Given the description of an element on the screen output the (x, y) to click on. 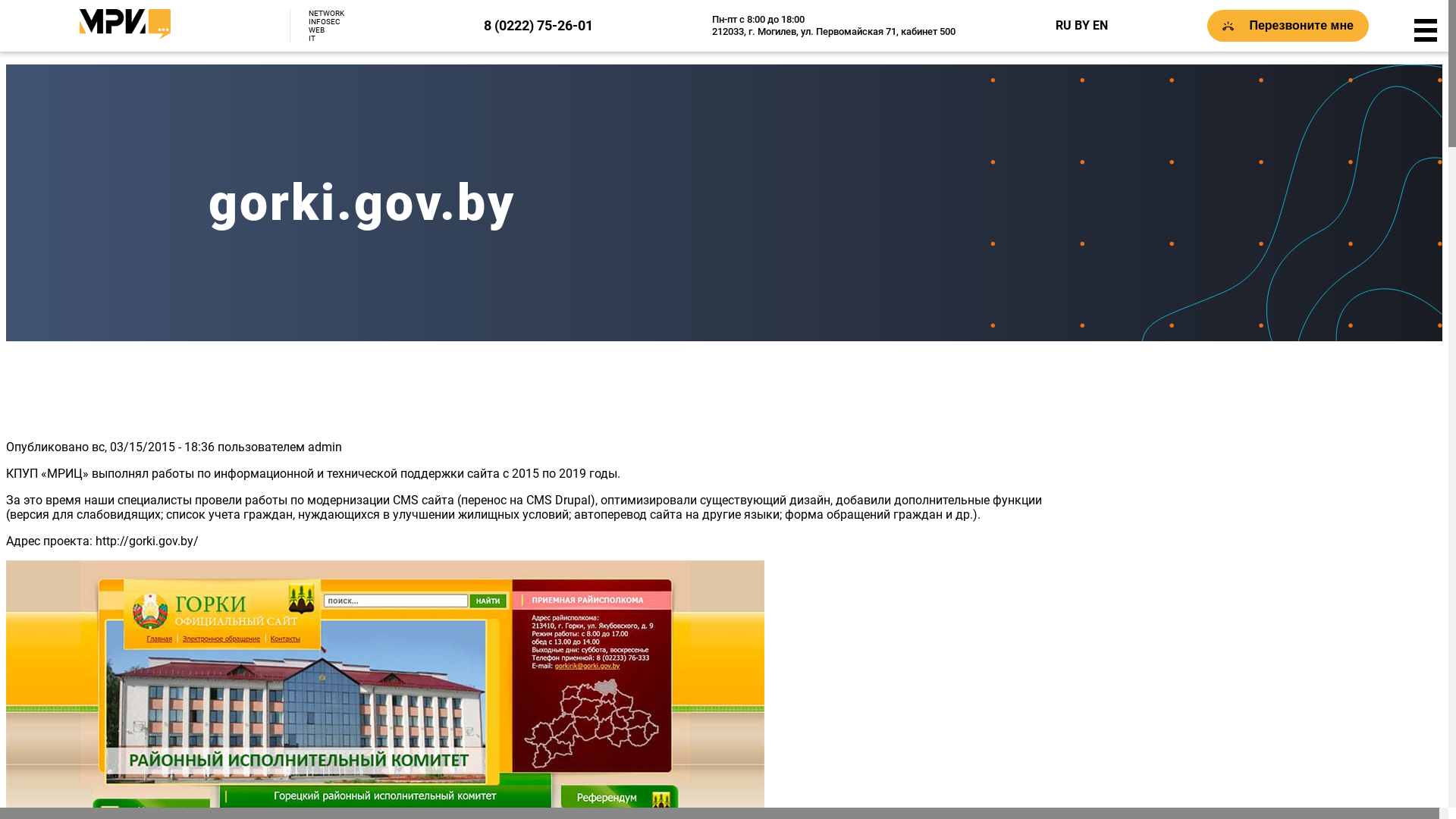
http://gorki.gov.by/ Element type: text (146, 540)
RU Element type: text (1063, 25)
EN Element type: text (1099, 25)
8 (0222) 75-26-01 Element type: text (538, 25)
BY Element type: text (1081, 25)
